Given the description of an element on the screen output the (x, y) to click on. 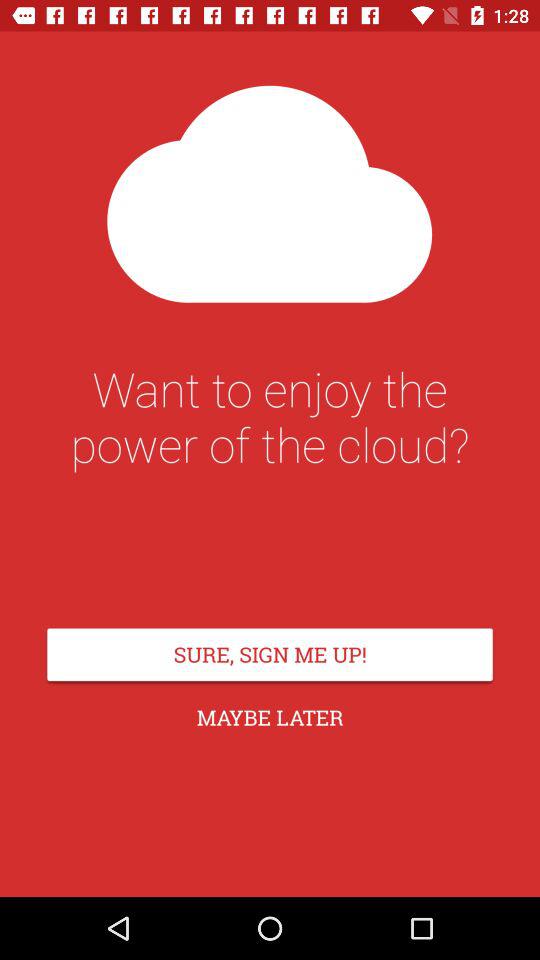
scroll to maybe later item (269, 717)
